Given the description of an element on the screen output the (x, y) to click on. 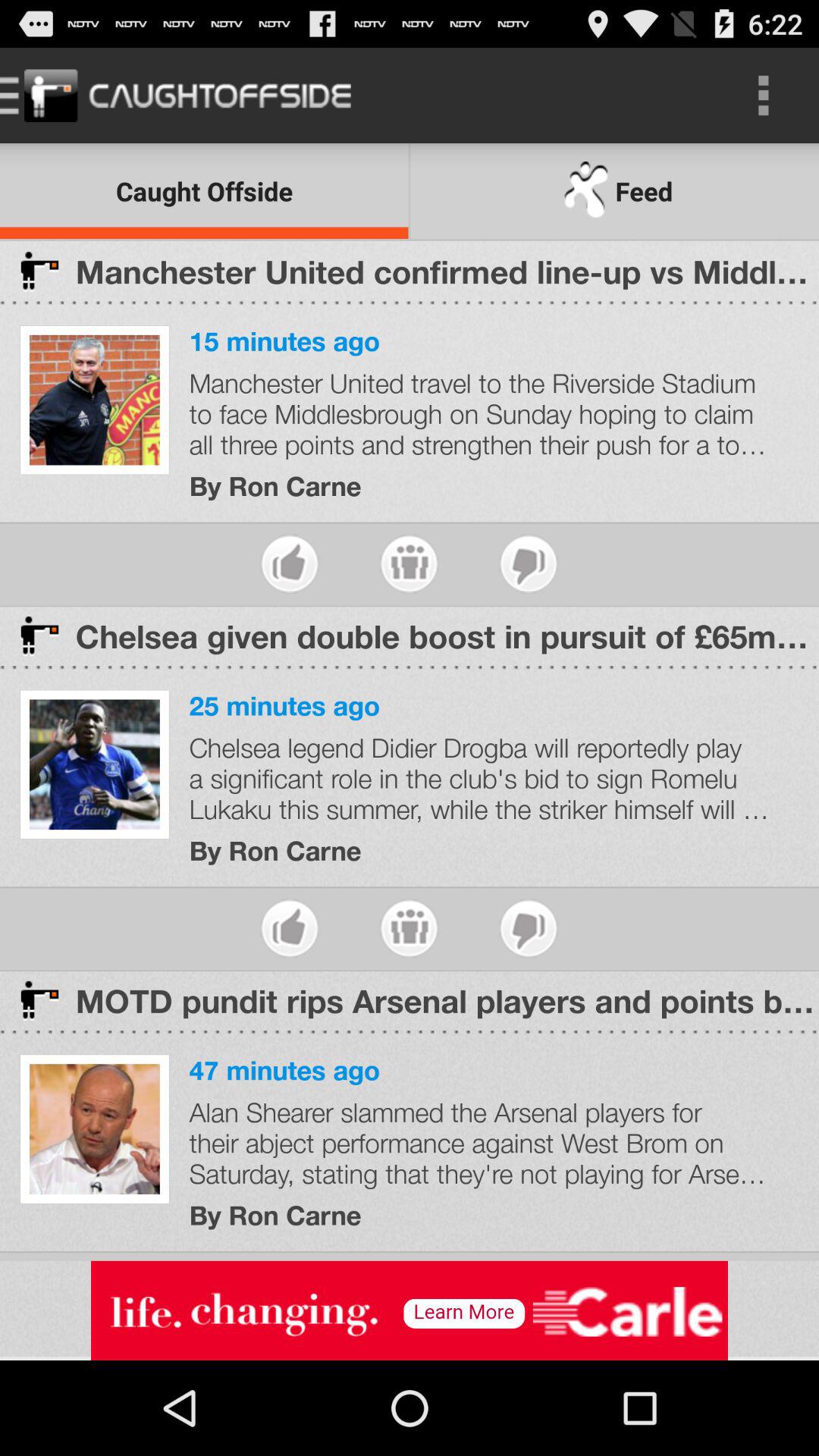
like the post (289, 563)
